Given the description of an element on the screen output the (x, y) to click on. 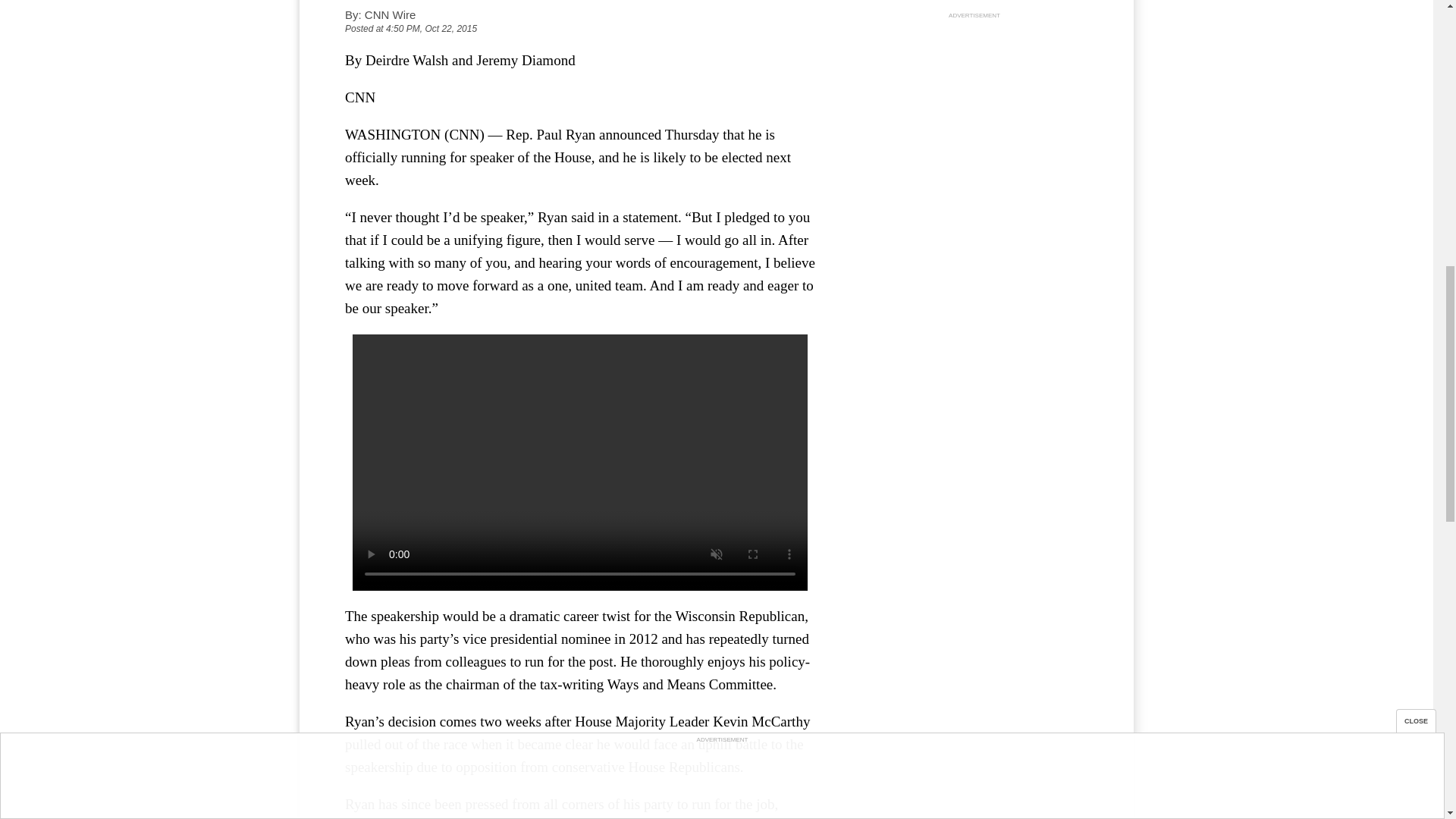
3rd party ad content (973, 117)
